Given the description of an element on the screen output the (x, y) to click on. 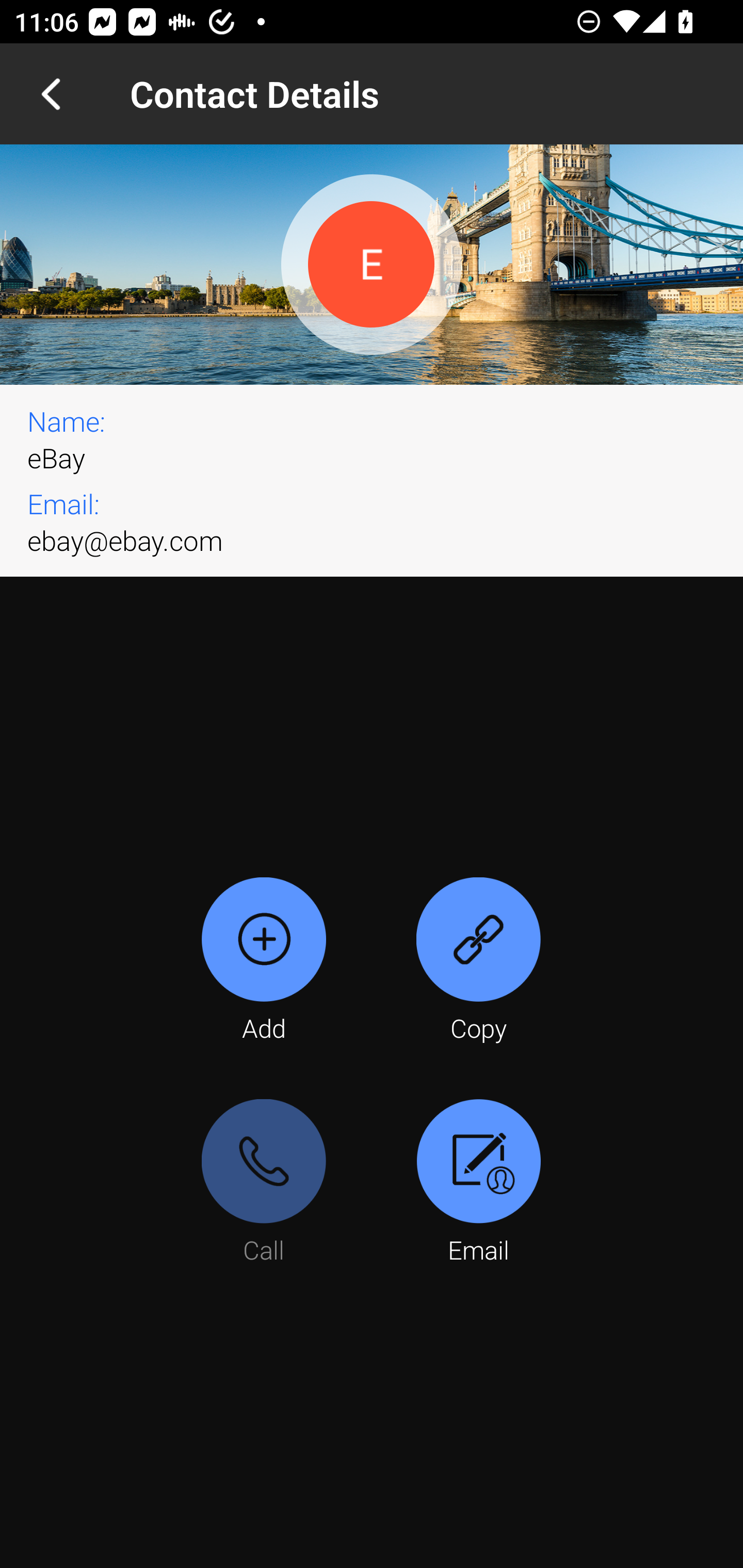
Navigate up (50, 93)
Add (264, 961)
Copy (478, 961)
Call (264, 1182)
Email (478, 1182)
